Given the description of an element on the screen output the (x, y) to click on. 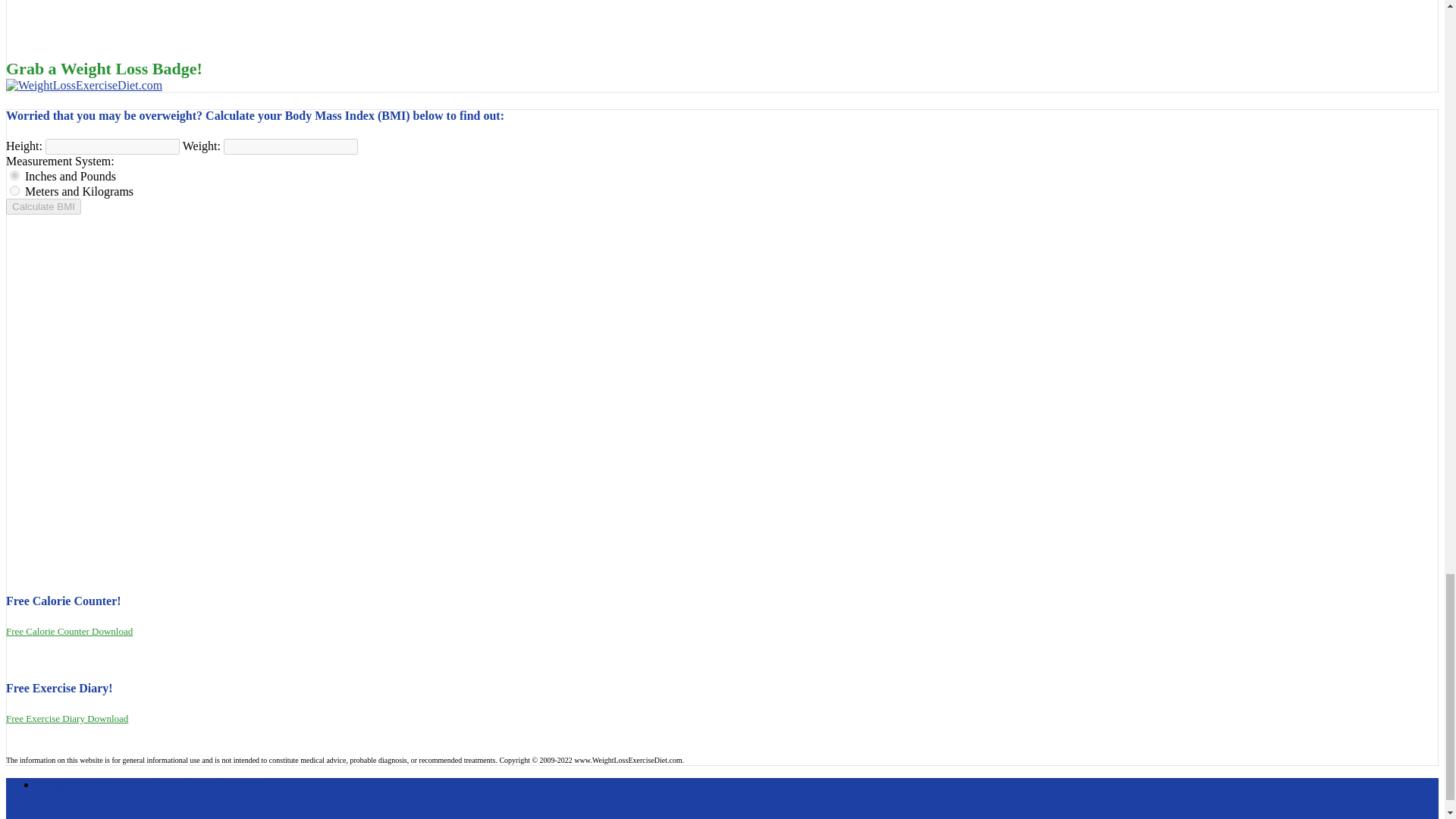
Free Calorie Counter Download (68, 631)
metric (15, 190)
Free Exercise Diary Download (66, 717)
Better Health for Better Life! (154, 791)
Calculate BMI (43, 206)
Click to grab the badge (83, 85)
english (15, 175)
